Given the description of an element on the screen output the (x, y) to click on. 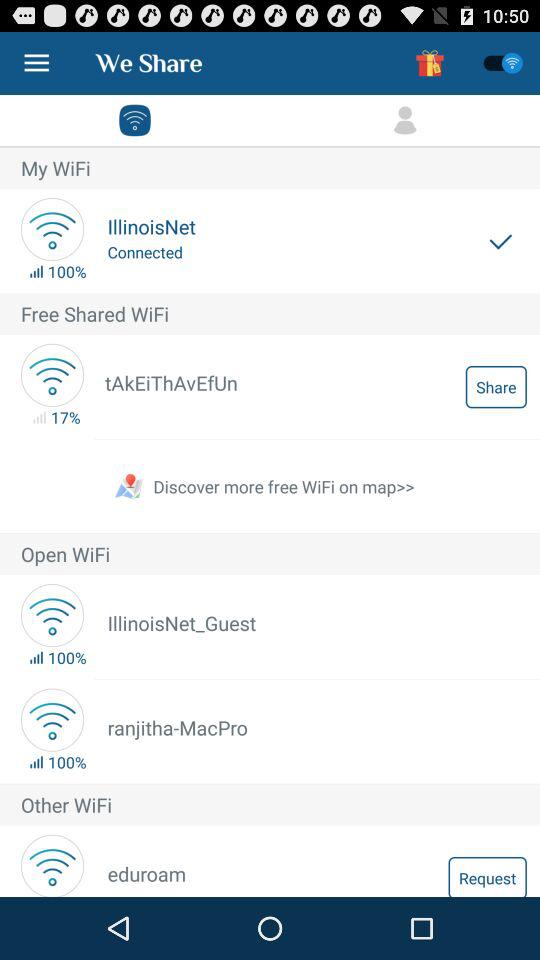
select the item next to the eduroam icon (487, 876)
